Given the description of an element on the screen output the (x, y) to click on. 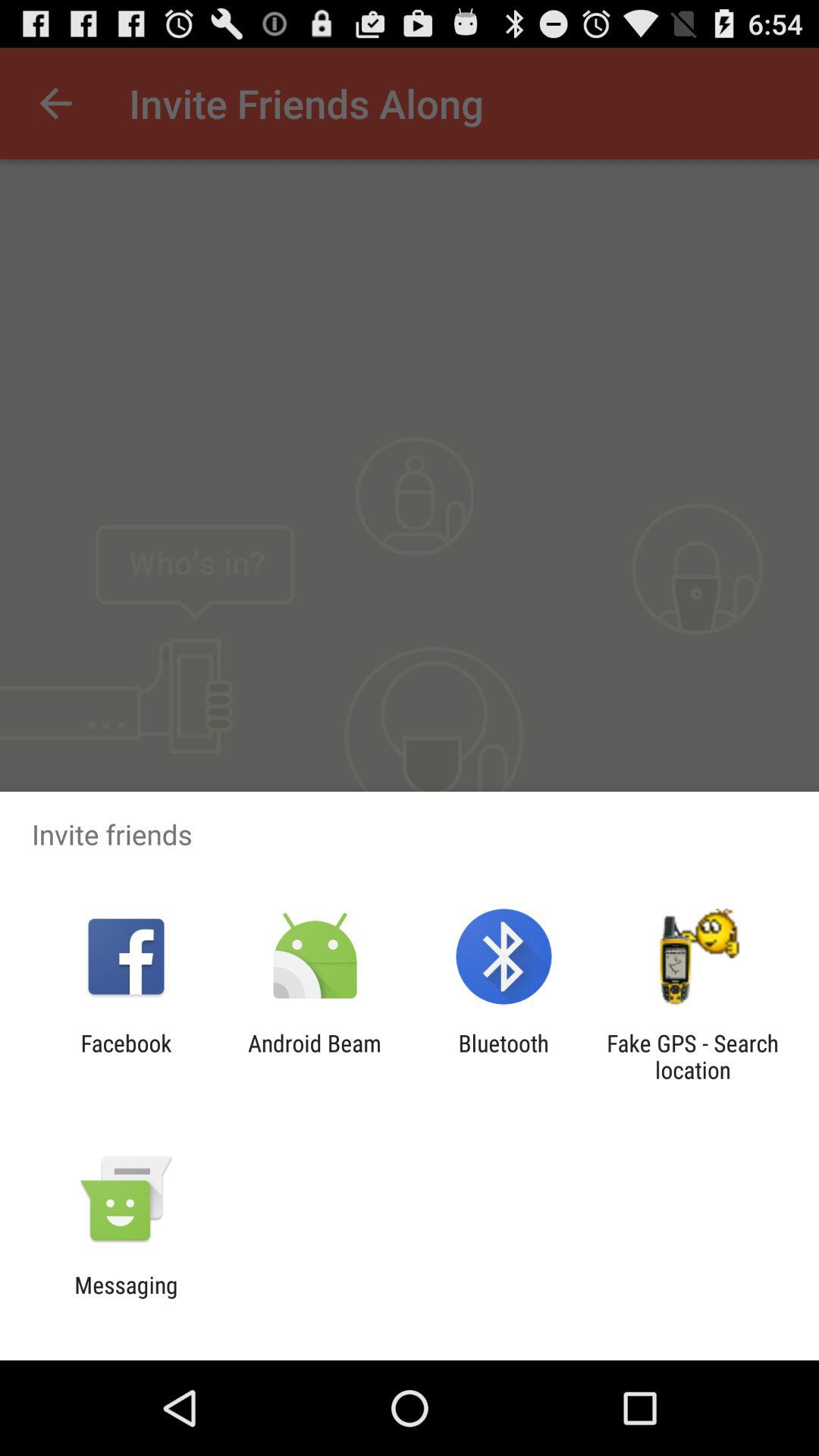
select the icon next to the android beam icon (125, 1056)
